Given the description of an element on the screen output the (x, y) to click on. 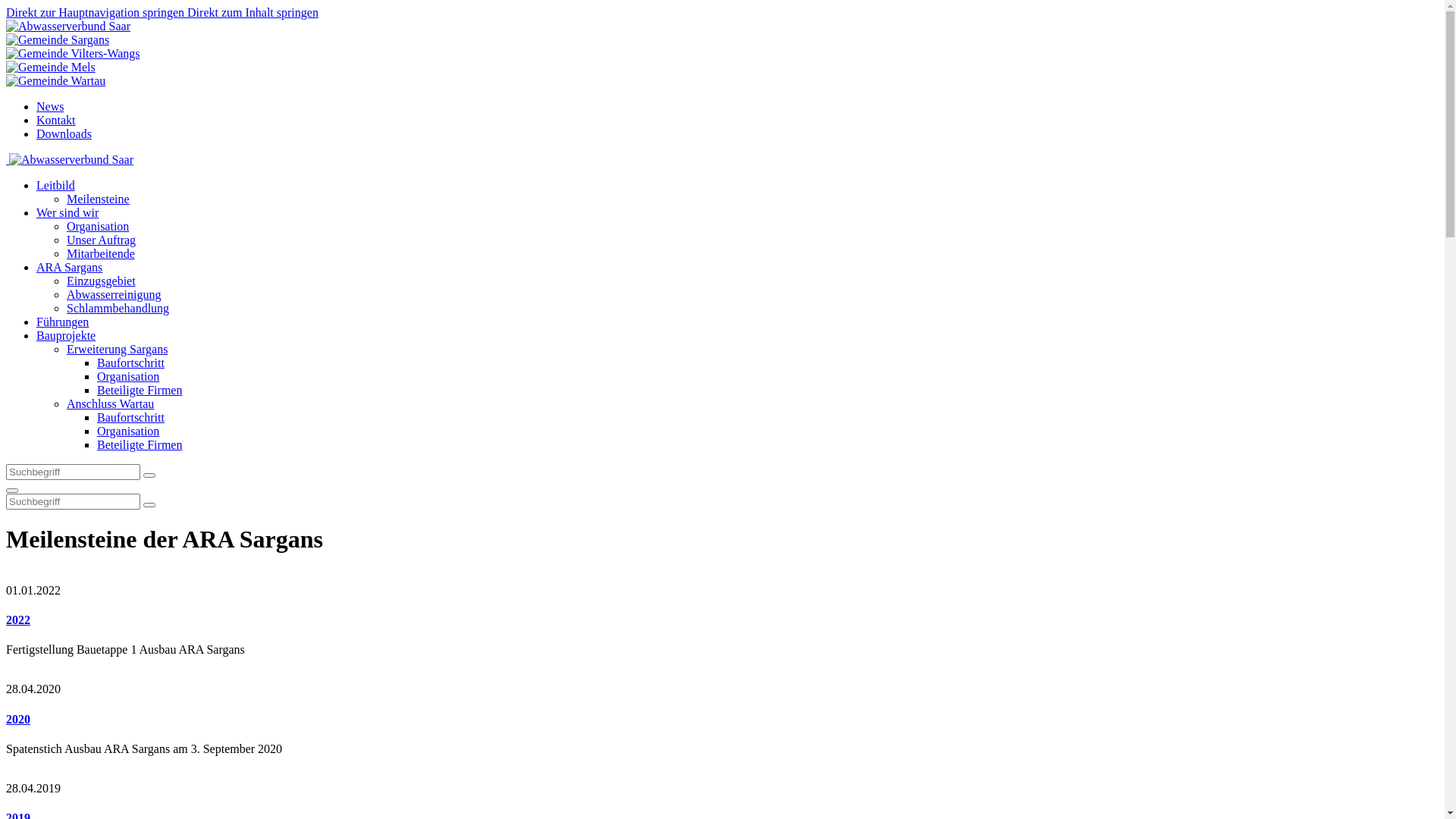
Organisation Element type: text (128, 430)
Bauprojekte Element type: text (65, 335)
Baufortschritt Element type: text (130, 417)
Gemeinde Mels Element type: hover (50, 67)
Anschluss Wartau Element type: text (109, 403)
Abwasserreinigung Element type: text (113, 294)
2022 Element type: text (18, 619)
Gemeinde Sargans Element type: hover (57, 40)
Organisation Element type: text (97, 225)
Abwasserverbund Saar Element type: hover (71, 159)
Unser Auftrag Element type: text (100, 239)
Organisation Element type: text (128, 376)
Meilensteine Element type: text (97, 198)
Gemeinde Vilters-Wangs Element type: hover (73, 53)
Abwasserverbund Saar Element type: hover (68, 26)
Gemeinde Wartau Element type: hover (55, 80)
2020 Element type: text (18, 718)
2019 Element type: hover (233, 774)
Wer sind wir Element type: text (67, 212)
Schlammbehandlung Element type: text (117, 307)
Einzugsgebiet Element type: text (100, 280)
Direkt zur Hauptnavigation springen Element type: text (96, 12)
ARA Sargans Element type: text (69, 266)
Leitbild Element type: text (55, 184)
Downloads Element type: text (63, 133)
Beteiligte Firmen Element type: text (139, 444)
Beteiligte Firmen Element type: text (139, 389)
Mitarbeitende Element type: text (100, 253)
Direkt zum Inhalt springen Element type: text (252, 12)
Kontakt Element type: text (55, 119)
Baufortschritt Element type: text (130, 362)
2022 Element type: hover (233, 576)
Erweiterung Sargans Element type: text (116, 348)
News Element type: text (49, 106)
2020 Element type: hover (233, 674)
